Given the description of an element on the screen output the (x, y) to click on. 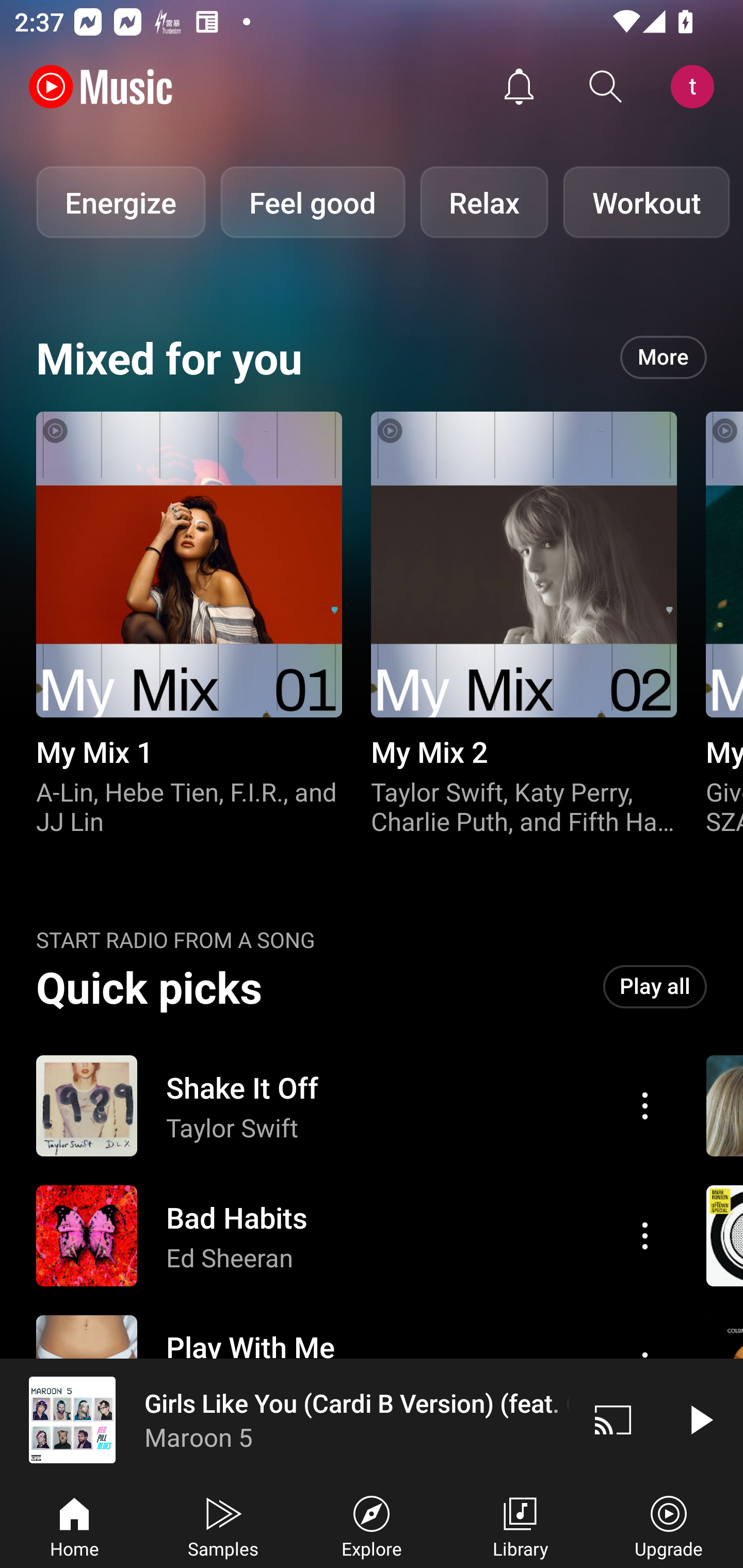
Activity feed (518, 86)
Search (605, 86)
Account (696, 86)
Action menu (349, 1106)
Action menu (644, 1106)
Action menu (349, 1236)
Action menu (644, 1235)
Cast. Disconnected (612, 1419)
Play video (699, 1419)
Home (74, 1524)
Samples (222, 1524)
Explore (371, 1524)
Library (519, 1524)
Upgrade (668, 1524)
